Given the description of an element on the screen output the (x, y) to click on. 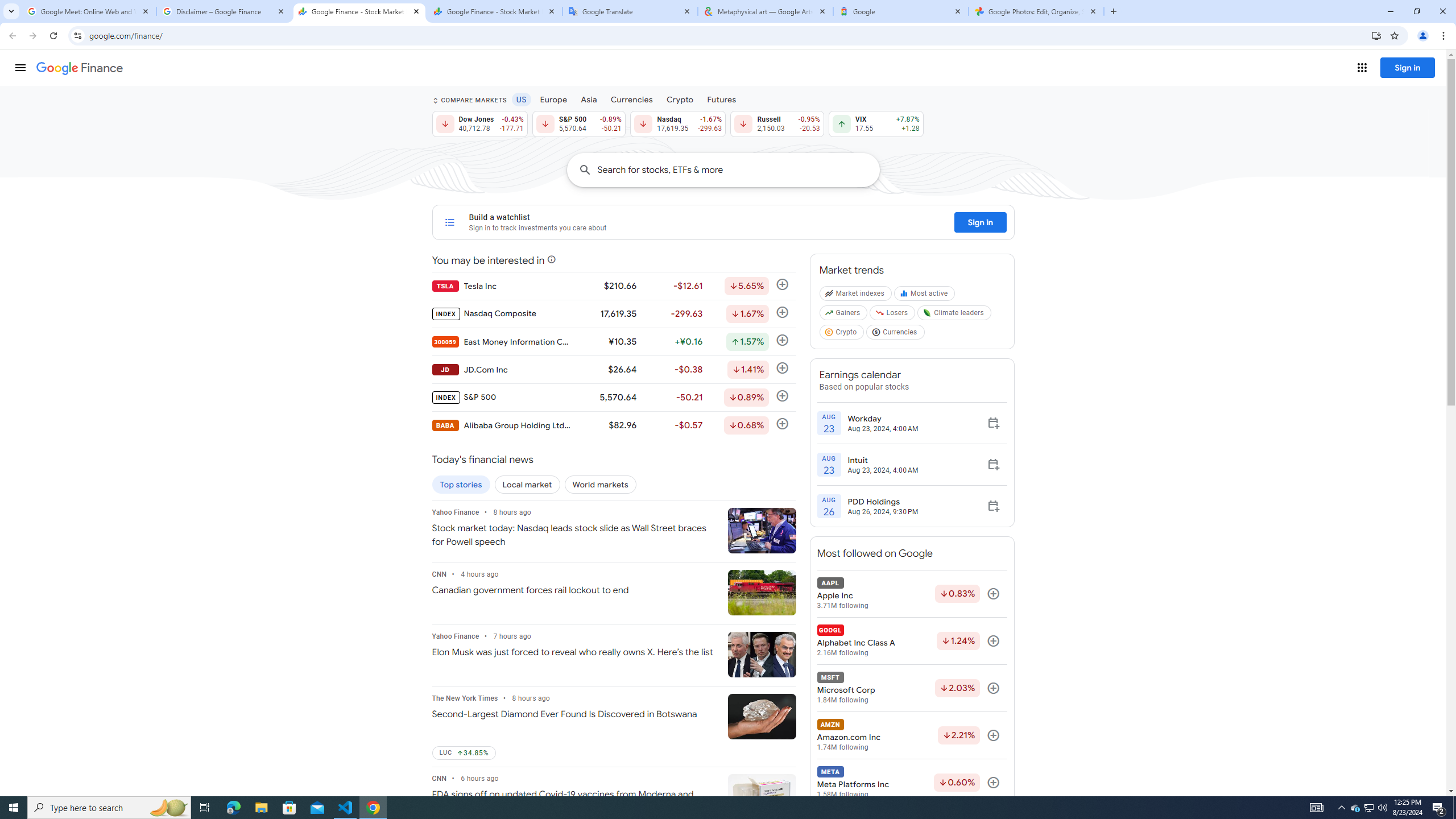
Currencies (631, 99)
Russell 2,150.03 Down by 0.95% -20.53 (777, 123)
Follow (993, 782)
Local market (526, 484)
Futures (721, 99)
META Meta Platforms Inc 1.58M following Down by 0.60% Follow (911, 782)
Losers (893, 315)
Search for stocks, ETFs & more (737, 169)
Workday (882, 418)
